Given the description of an element on the screen output the (x, y) to click on. 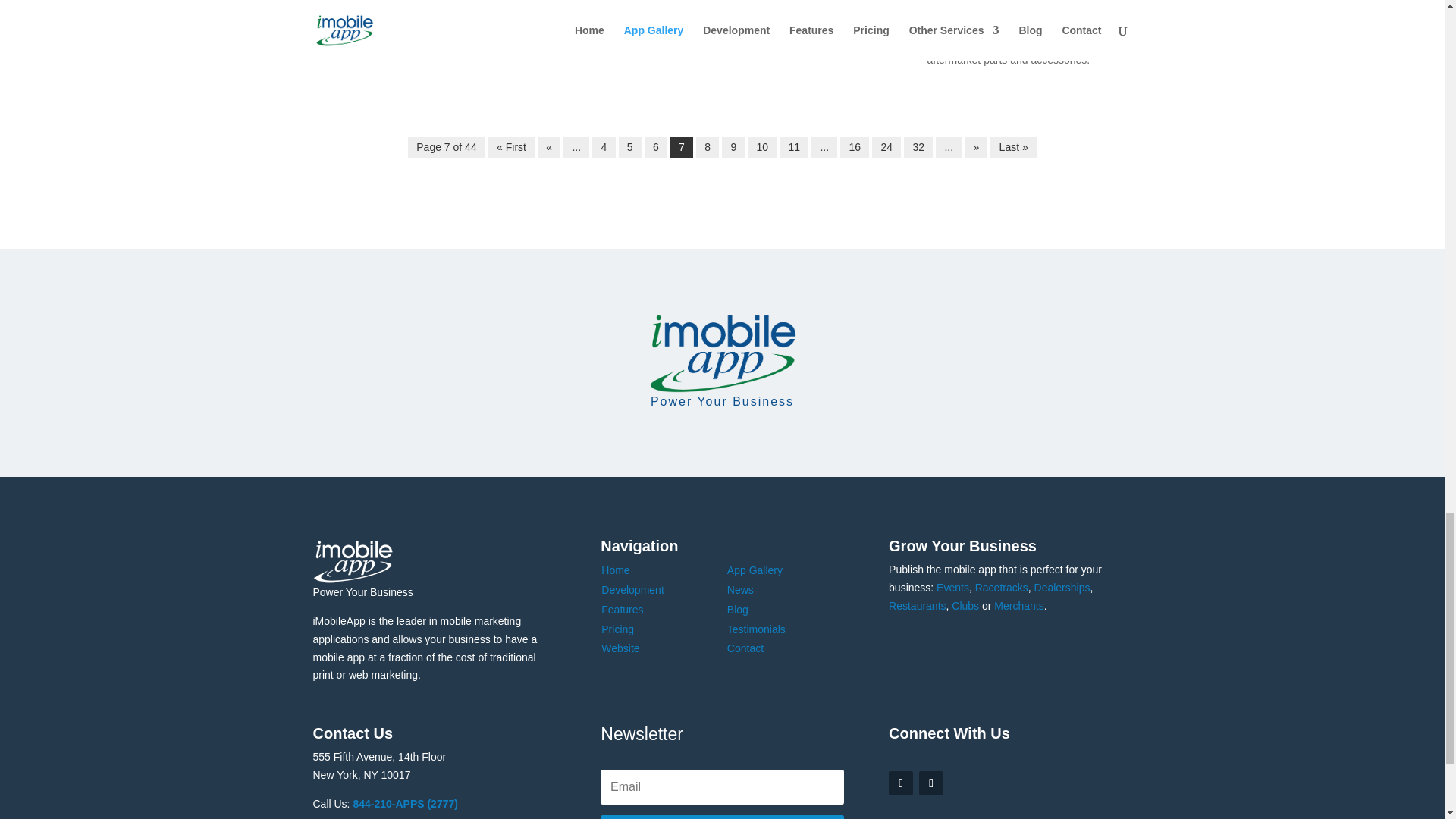
Page 8 (707, 147)
Page 16 (854, 147)
Page 9 (733, 147)
Page 32 (918, 147)
Page 10 (762, 147)
Page 24 (886, 147)
Page 11 (793, 147)
Page 5 (630, 147)
Follow on Facebook (900, 783)
Follow on X (930, 783)
Page 6 (655, 147)
Page 4 (603, 147)
